Given the description of an element on the screen output the (x, y) to click on. 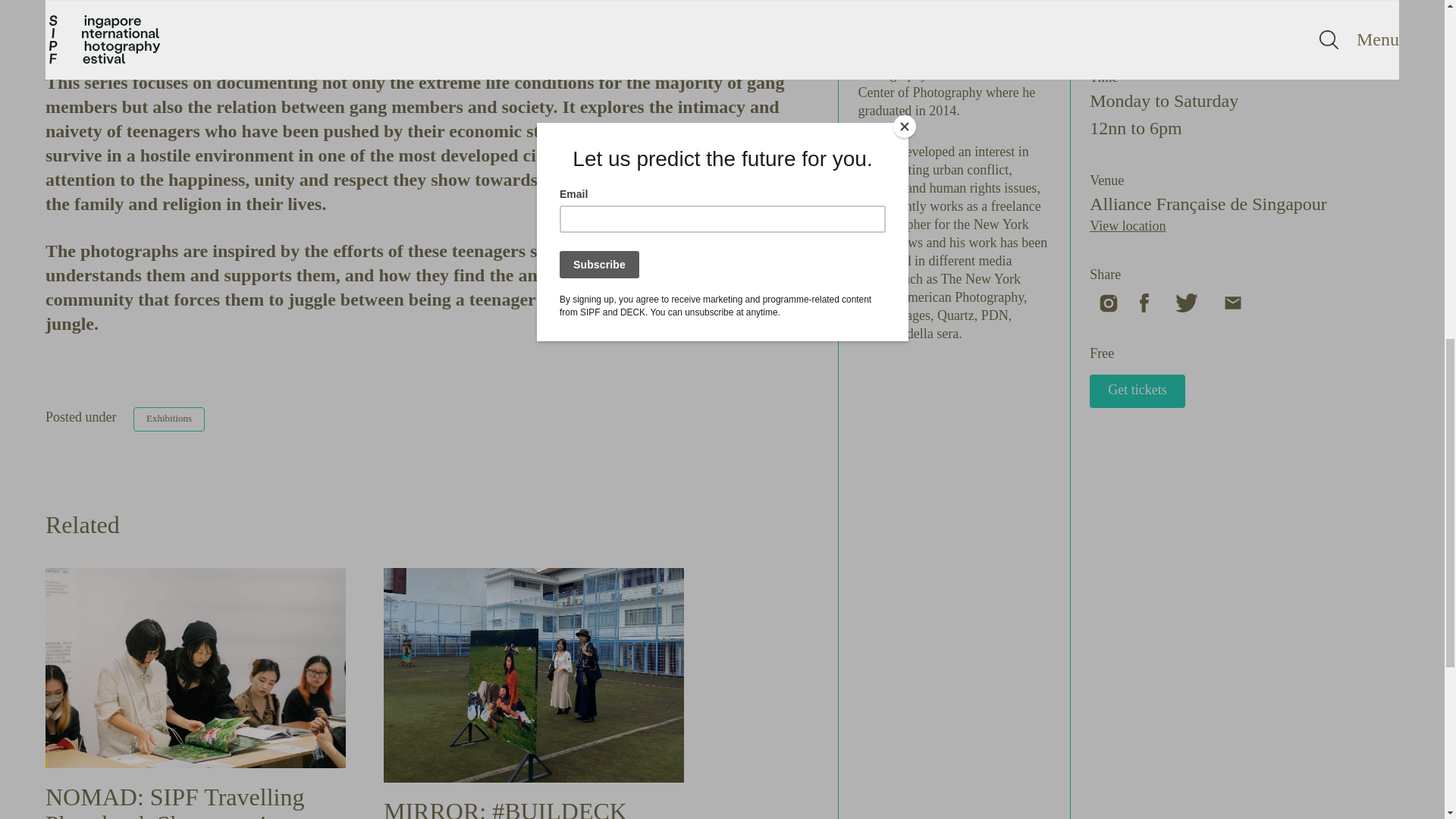
Exhibitions (169, 418)
View location (1127, 225)
Share on Facebook (1145, 301)
NOMAD: SIPF Travelling Photobook Showcase in Shanghai (174, 800)
Add to cal (1118, 28)
Get tickets (1137, 390)
Share on Twitter (1188, 301)
